Given the description of an element on the screen output the (x, y) to click on. 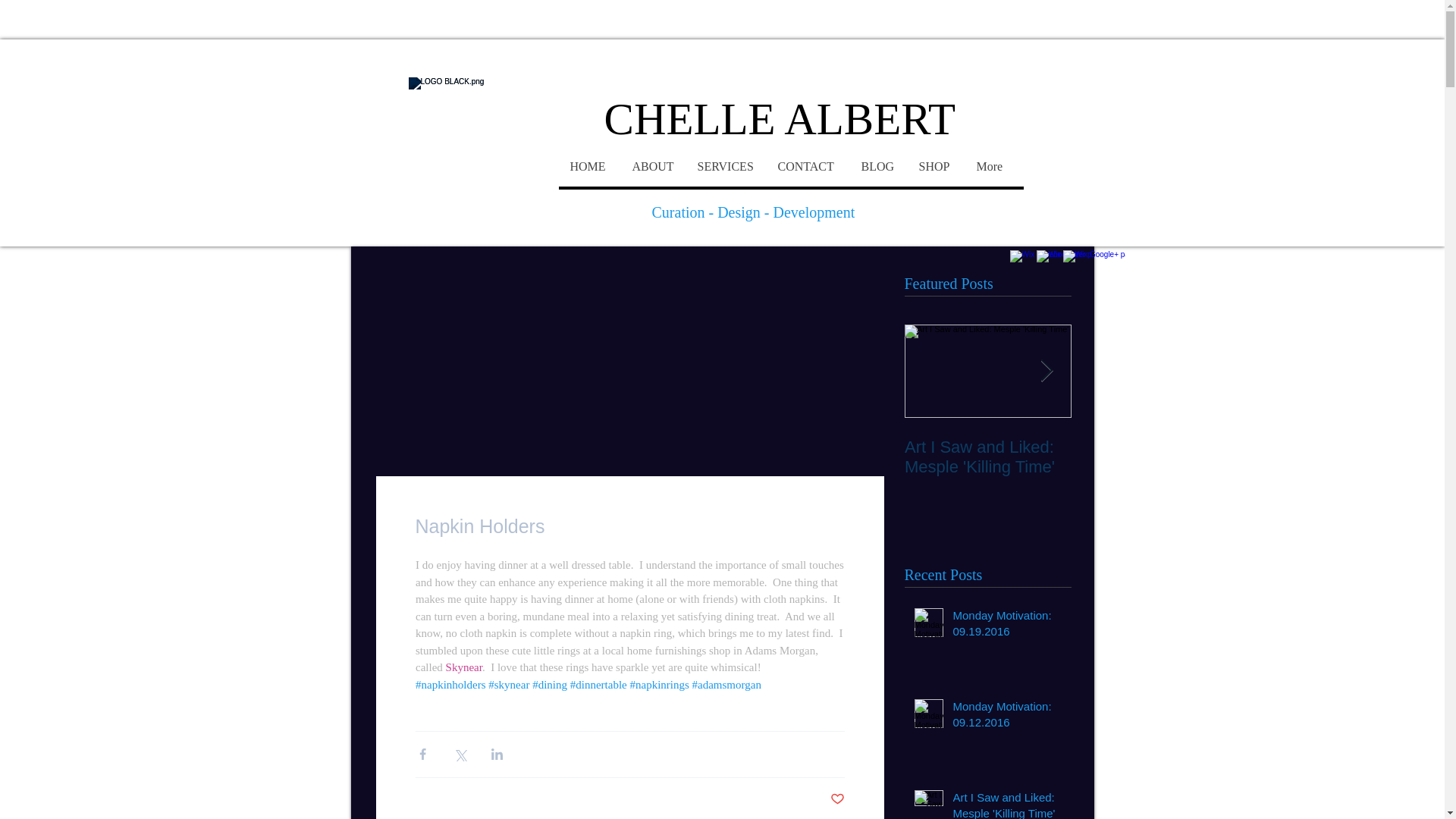
SERVICES (725, 166)
Art I Saw and Liked: Mesple 'Killing Time' (1006, 804)
Pin to Pinterest (853, 527)
A Spotlight on a Timeless Classic: The French Bistro Chair (1153, 466)
Monday Motivation: 09.19.2016 (1006, 626)
BLOG (877, 166)
Skynear (463, 666)
ABOUT (652, 166)
Monday Motivation: 09.12.2016 (1006, 717)
SHOP (935, 166)
